Given the description of an element on the screen output the (x, y) to click on. 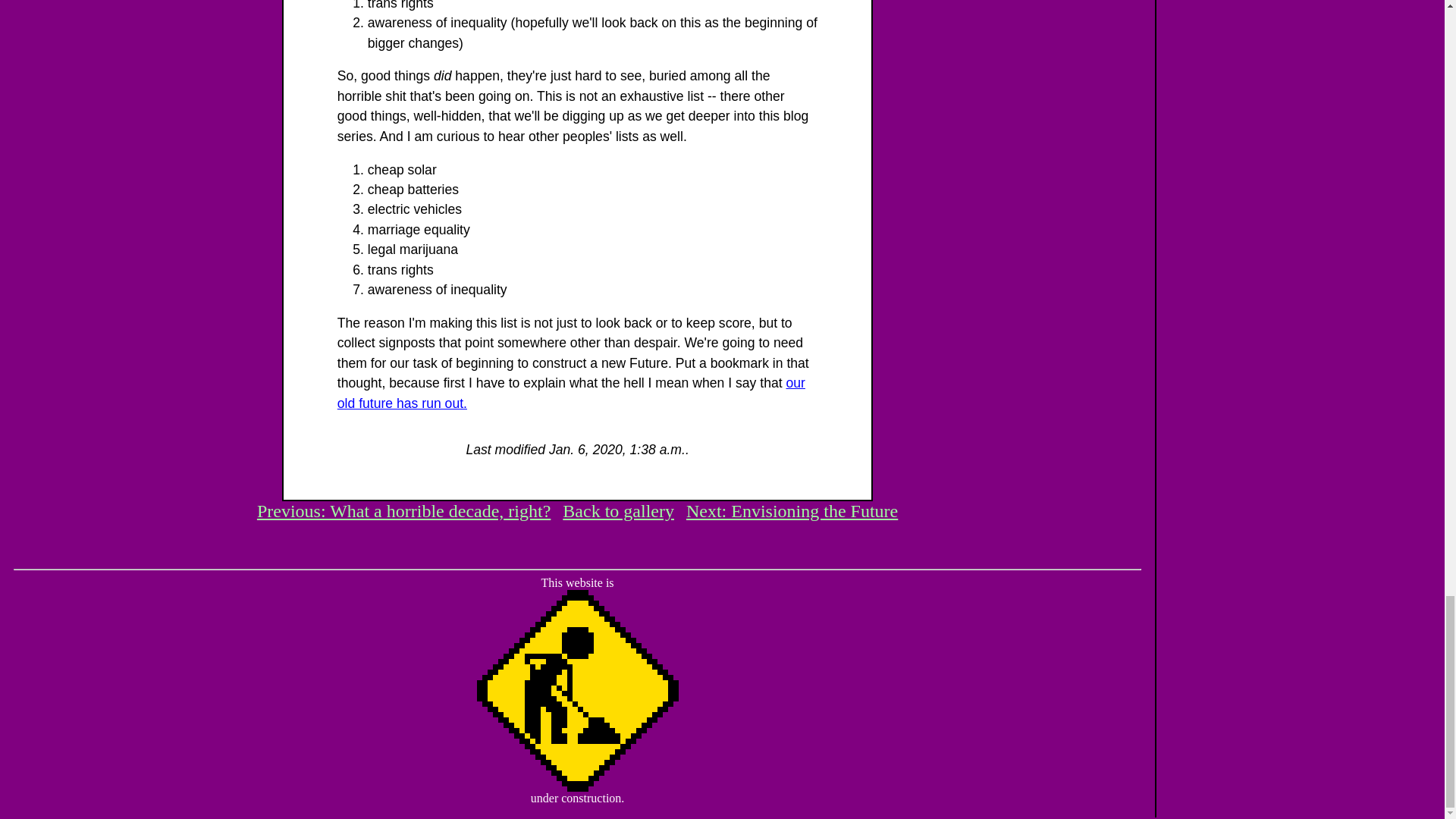
Next: Envisioning the Future (791, 510)
our old future has run out. (571, 392)
Back to gallery (618, 510)
Previous: What a horrible decade, right? (403, 510)
